Given the description of an element on the screen output the (x, y) to click on. 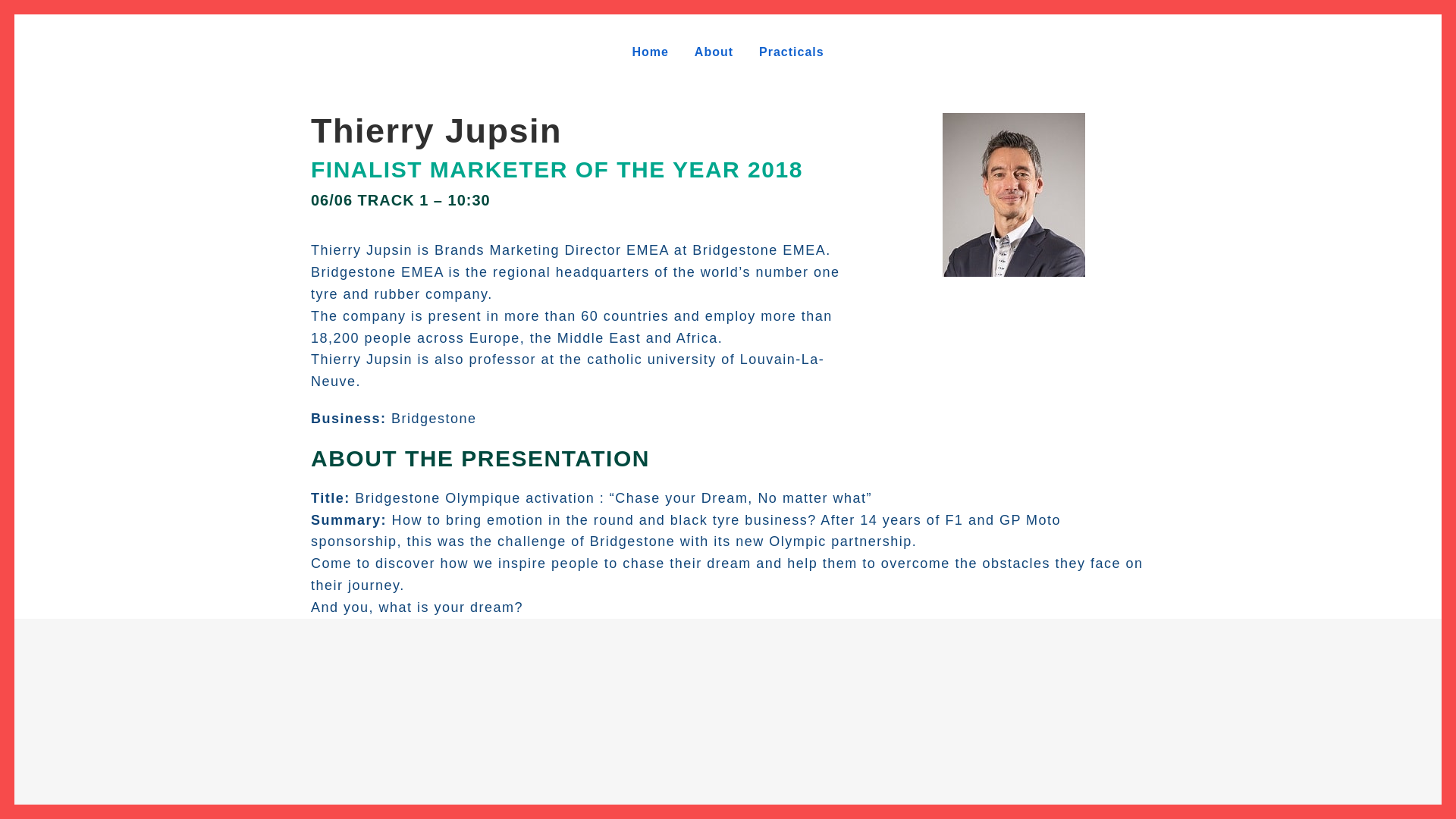
Practicals (791, 52)
Thierry Jupsin (436, 130)
